Given the description of an element on the screen output the (x, y) to click on. 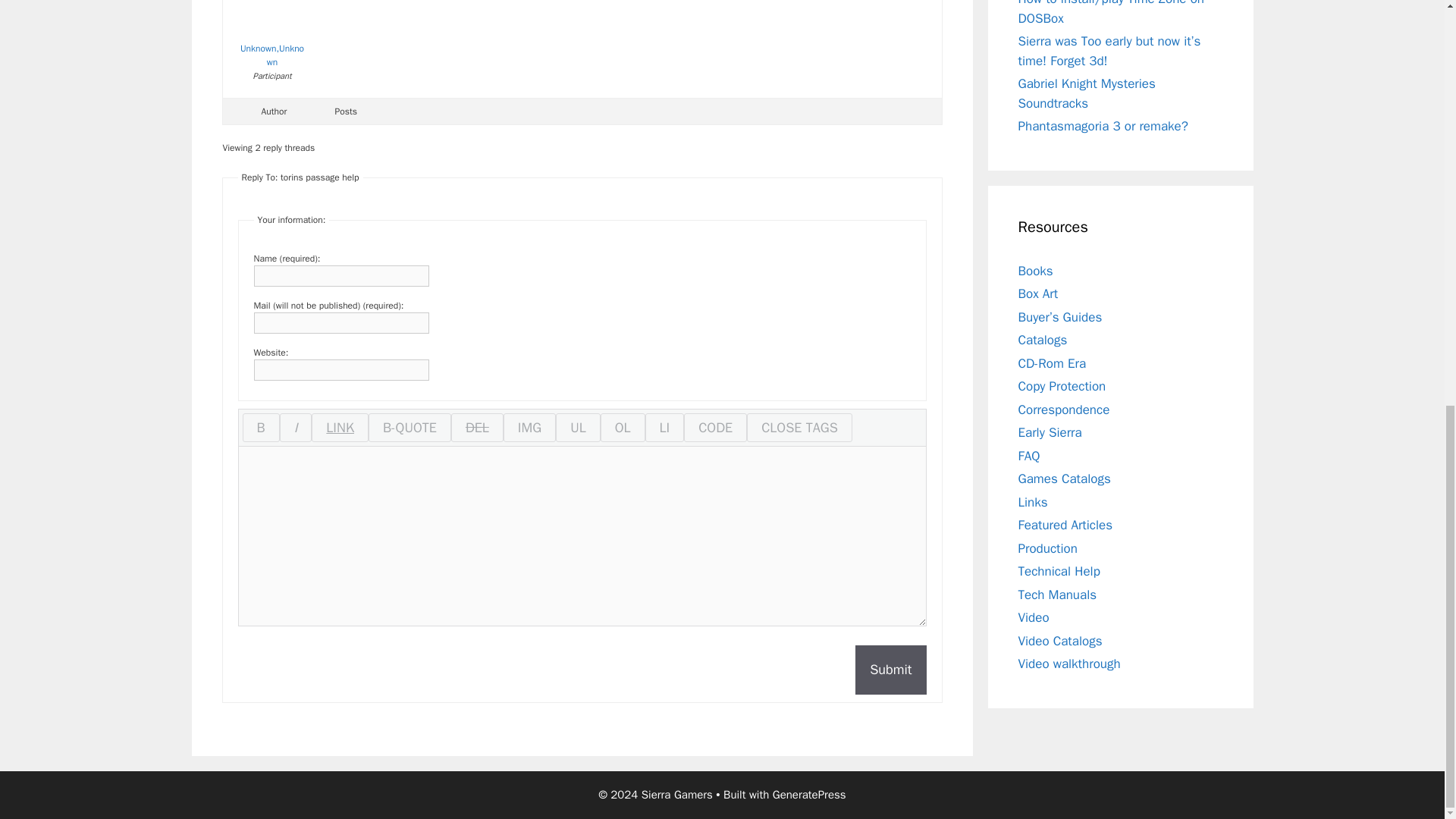
ol (622, 427)
i (296, 427)
code (715, 427)
li (664, 427)
View Unknown,Unknown's profile (271, 34)
img (529, 427)
close tags (798, 427)
Close all open tags (798, 427)
link (339, 427)
b (261, 427)
del (477, 427)
ul (577, 427)
b-quote (409, 427)
